Given the description of an element on the screen output the (x, y) to click on. 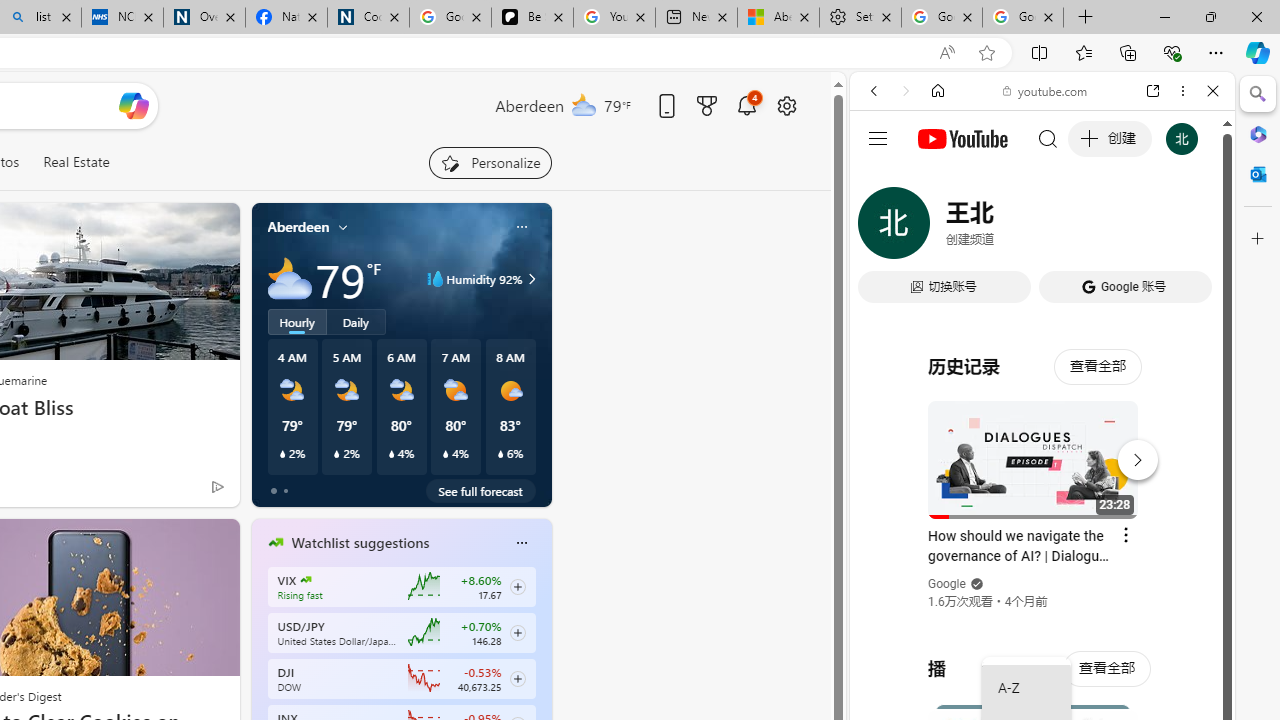
tab-1 (285, 490)
Cookies (368, 17)
Open settings (786, 105)
Search videos from youtube.com (1005, 657)
A-Z (1026, 688)
IMAGES (939, 228)
Google (947, 584)
